Given the description of an element on the screen output the (x, y) to click on. 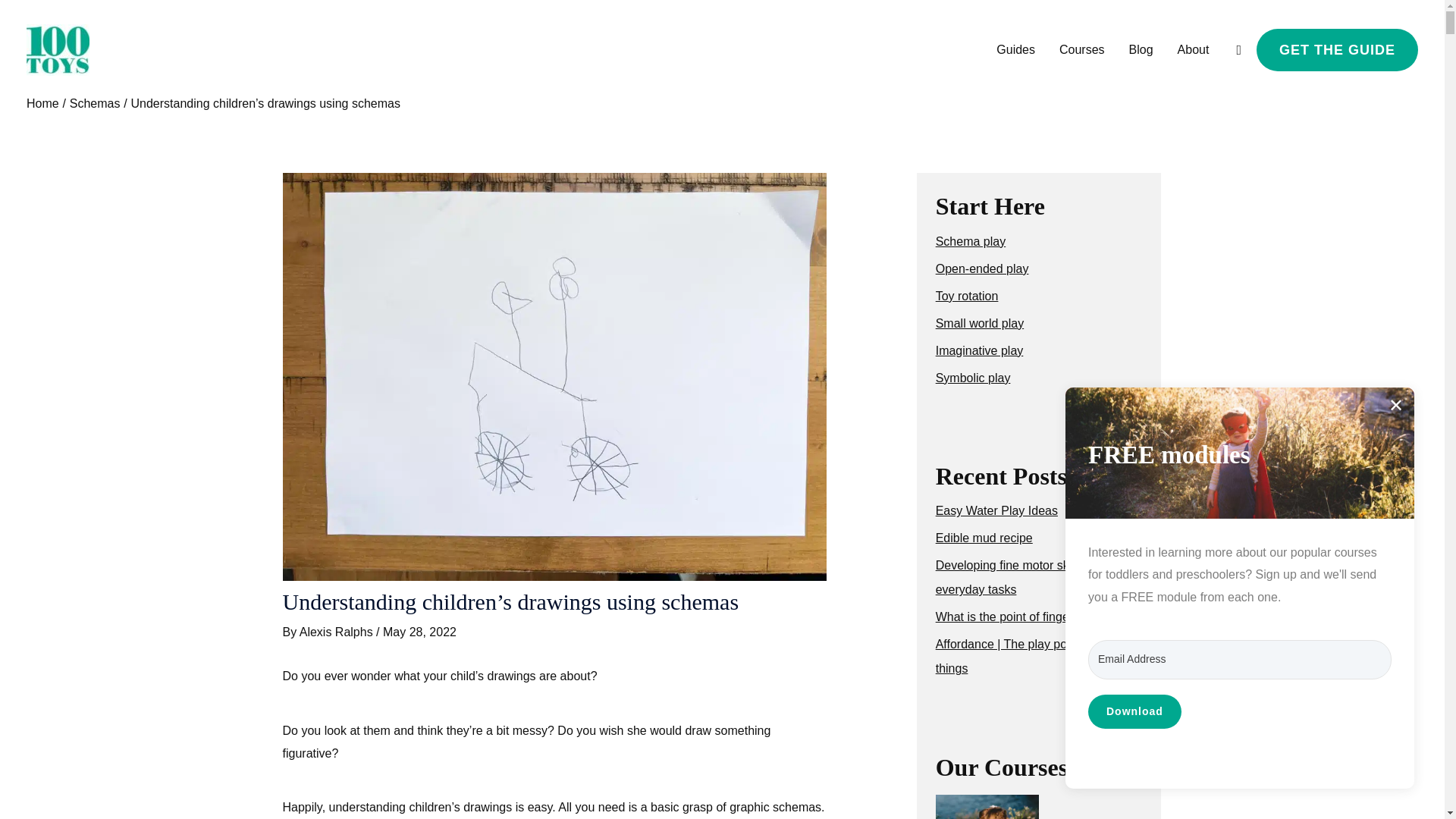
About (1193, 49)
Home (42, 103)
GET THE GUIDE (1337, 50)
Schemas (94, 103)
View all posts by Alexis Ralphs (337, 631)
Blog (1141, 49)
Alexis Ralphs (337, 631)
Courses (1081, 49)
Guides (1015, 49)
